Given the description of an element on the screen output the (x, y) to click on. 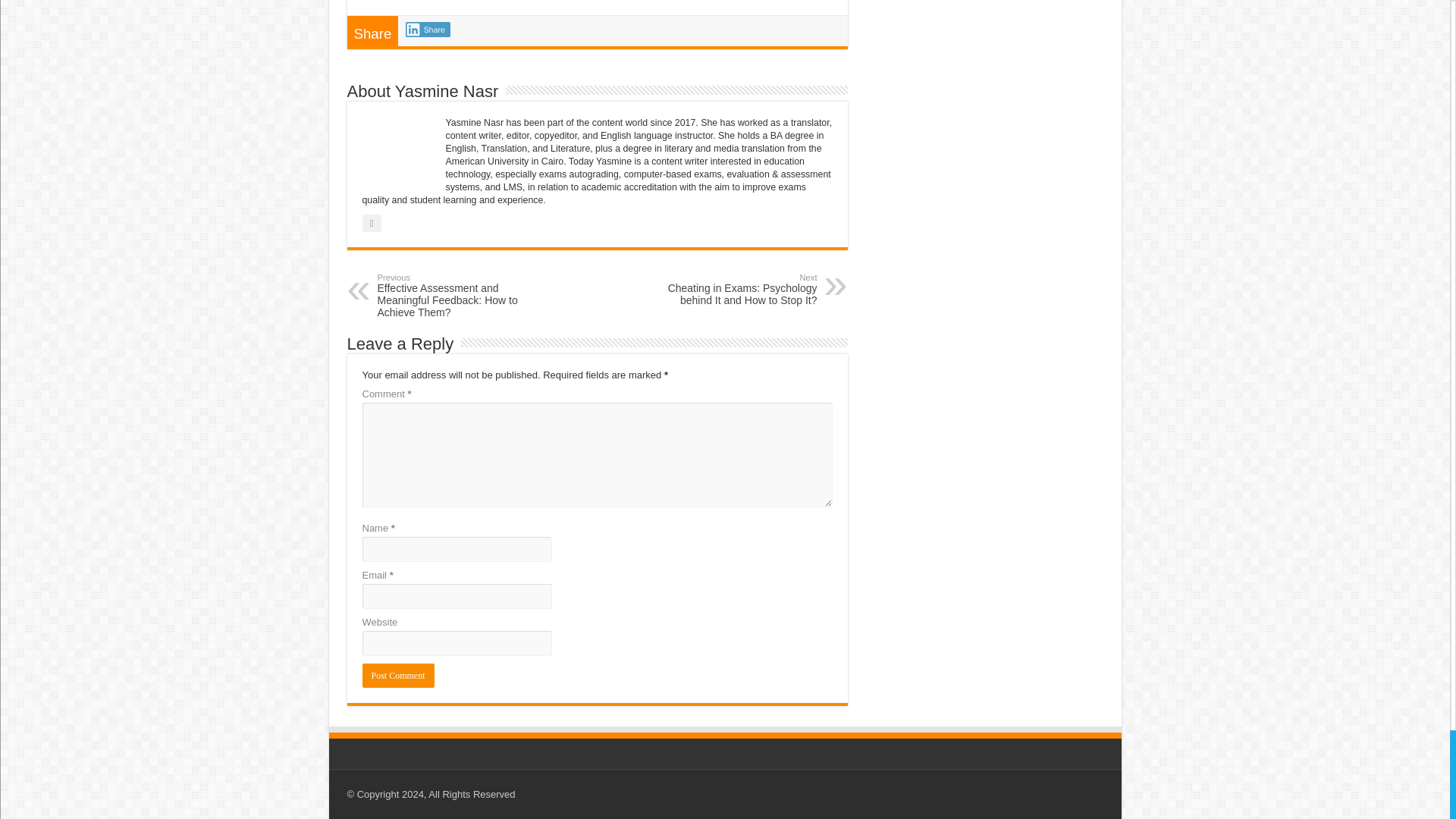
Post Comment (397, 675)
Share (427, 29)
Post Comment (397, 675)
